Given the description of an element on the screen output the (x, y) to click on. 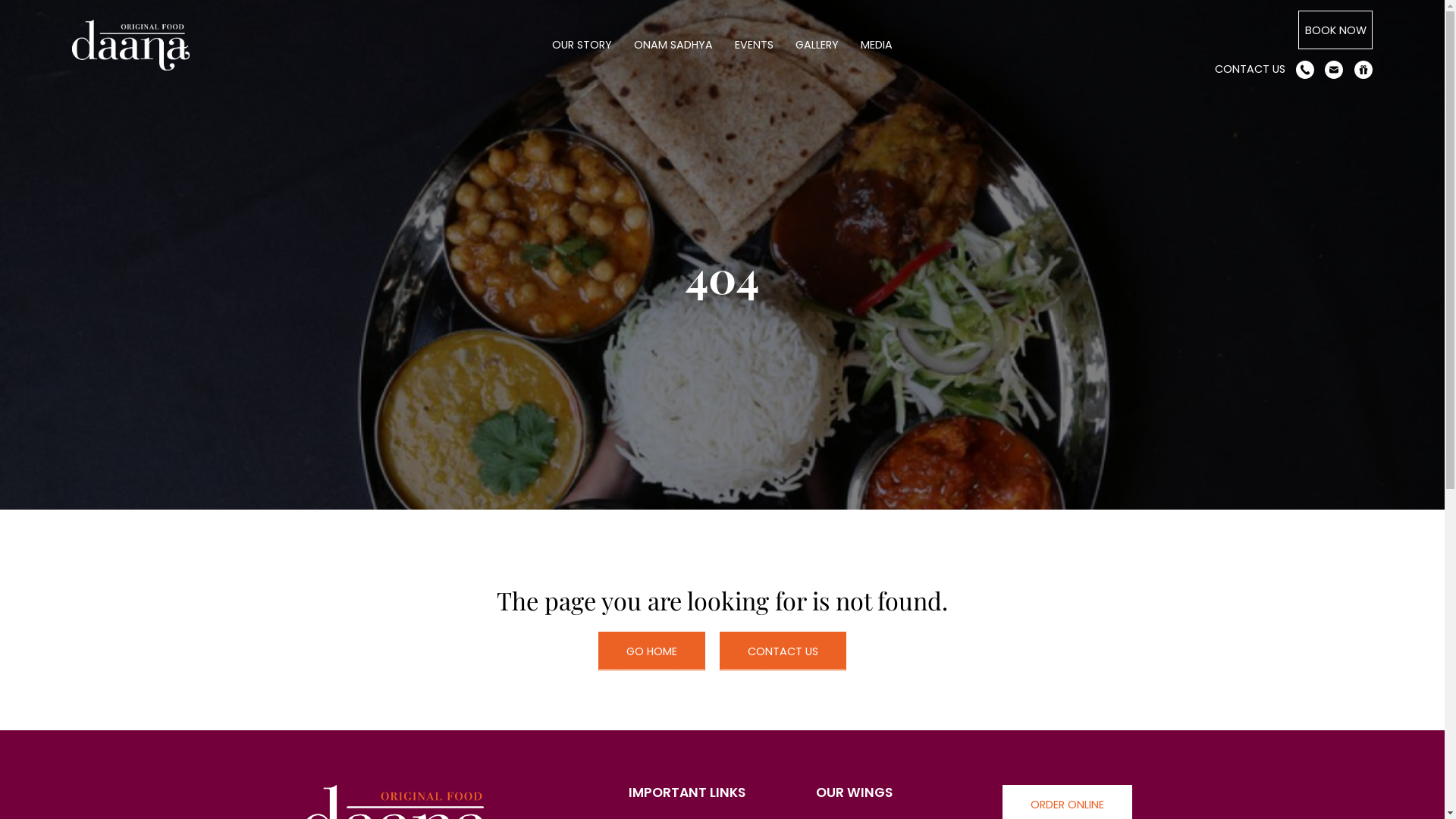
BOOK NOW Element type: text (1334, 29)
MEDIA Element type: text (876, 45)
OUR STORY Element type: text (581, 45)
ONAM SADHYA Element type: text (672, 45)
EVENTS Element type: text (753, 45)
CONTACT US Element type: text (782, 650)
GO HOME Element type: text (651, 650)
CONTACT US Element type: text (1249, 68)
GALLERY Element type: text (816, 45)
